Given the description of an element on the screen output the (x, y) to click on. 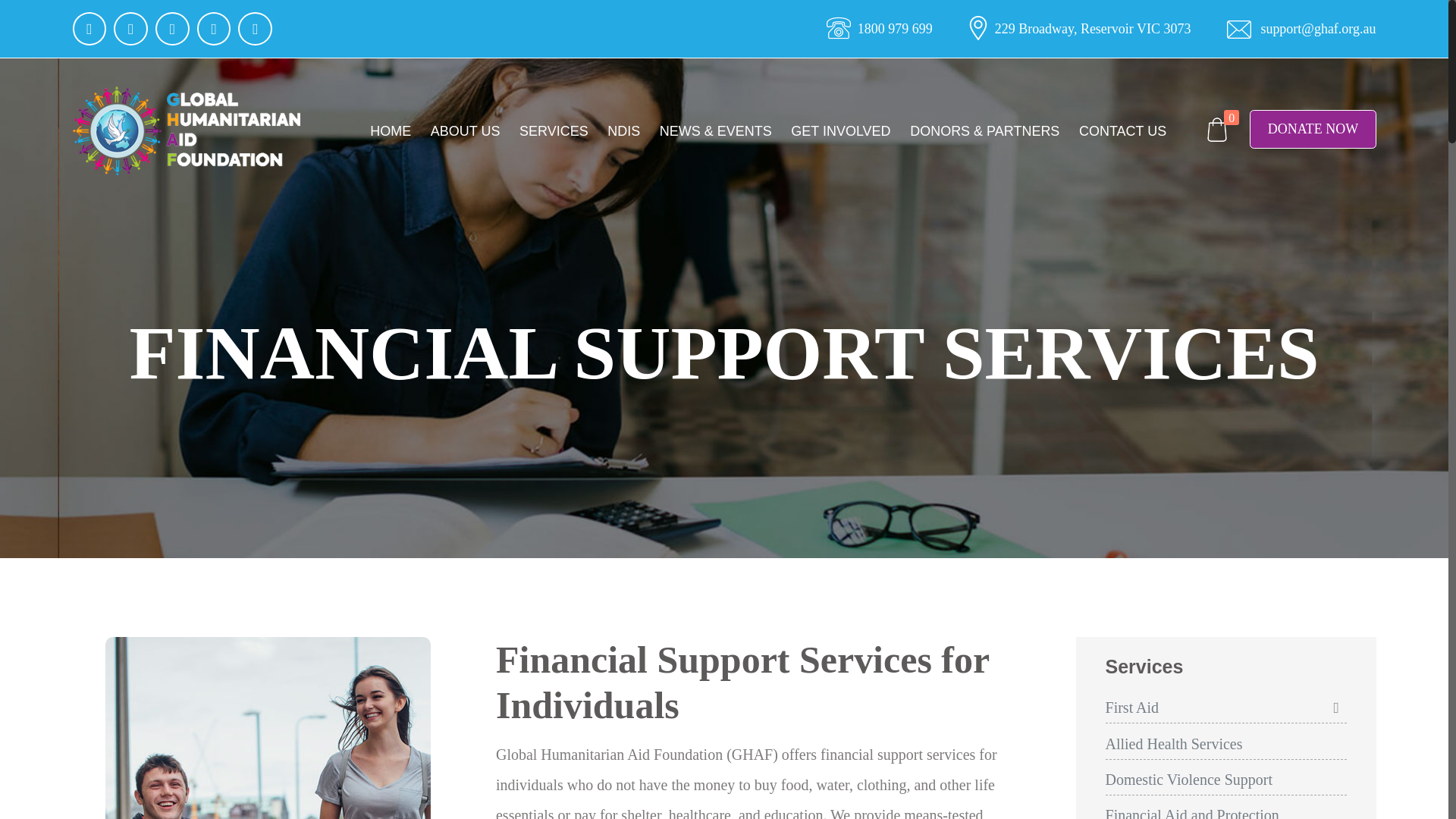
NDIS (622, 132)
HOME (389, 132)
SERVICES (552, 132)
229 Broadway, Reservoir VIC 3073 (1080, 28)
1800 979 699 (880, 28)
LinkedIn (172, 28)
Twitter (130, 28)
Facebook (89, 28)
ABOUT US (464, 132)
Global Humanitarian Aid Foundation (185, 131)
Instagram (213, 28)
